Given the description of an element on the screen output the (x, y) to click on. 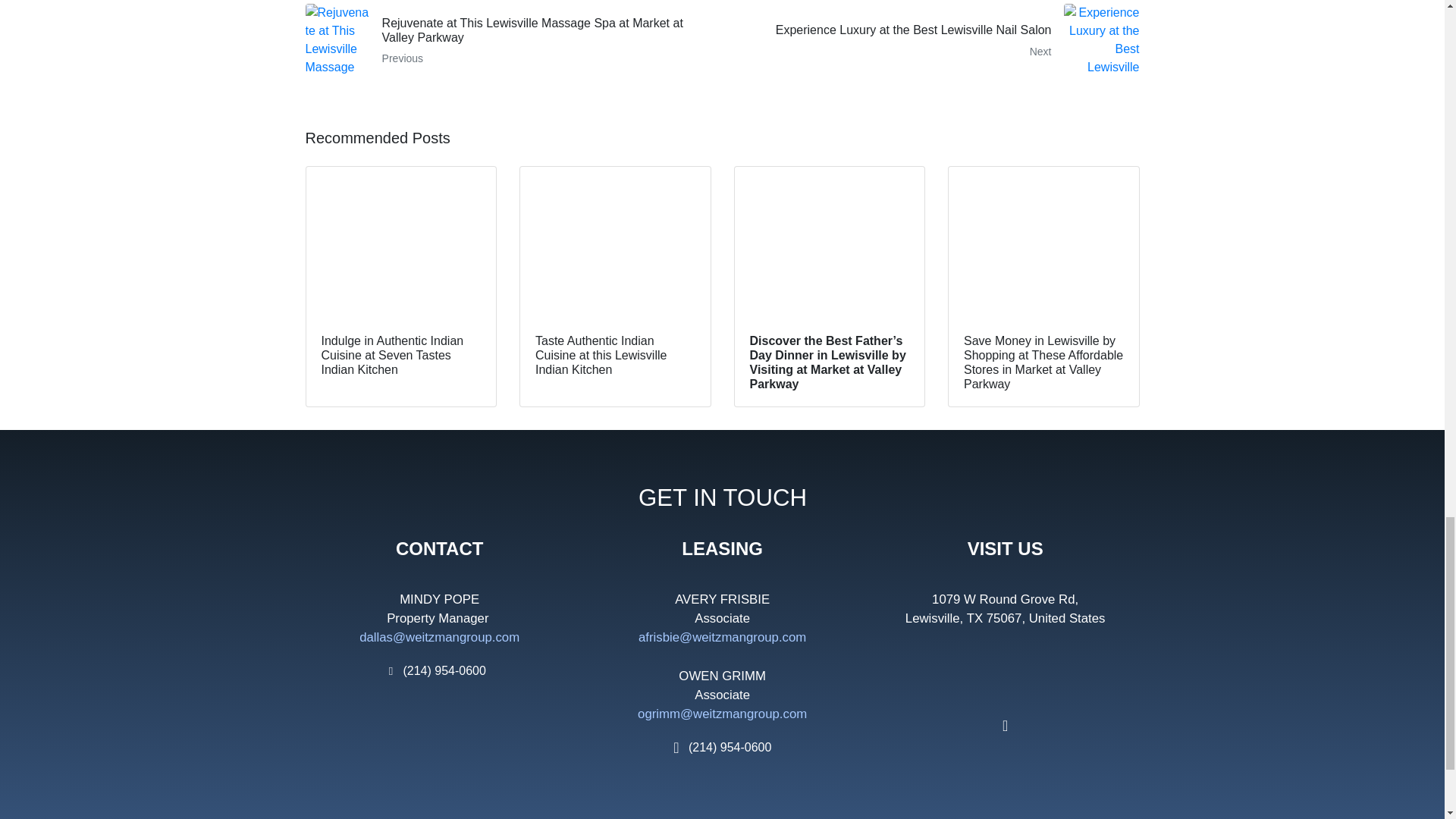
Experience Luxury at the Best Lewisville Nail Salon 2 (1100, 41)
Experience Luxury at the Best Lewisville Nail Salon (936, 41)
